Given the description of an element on the screen output the (x, y) to click on. 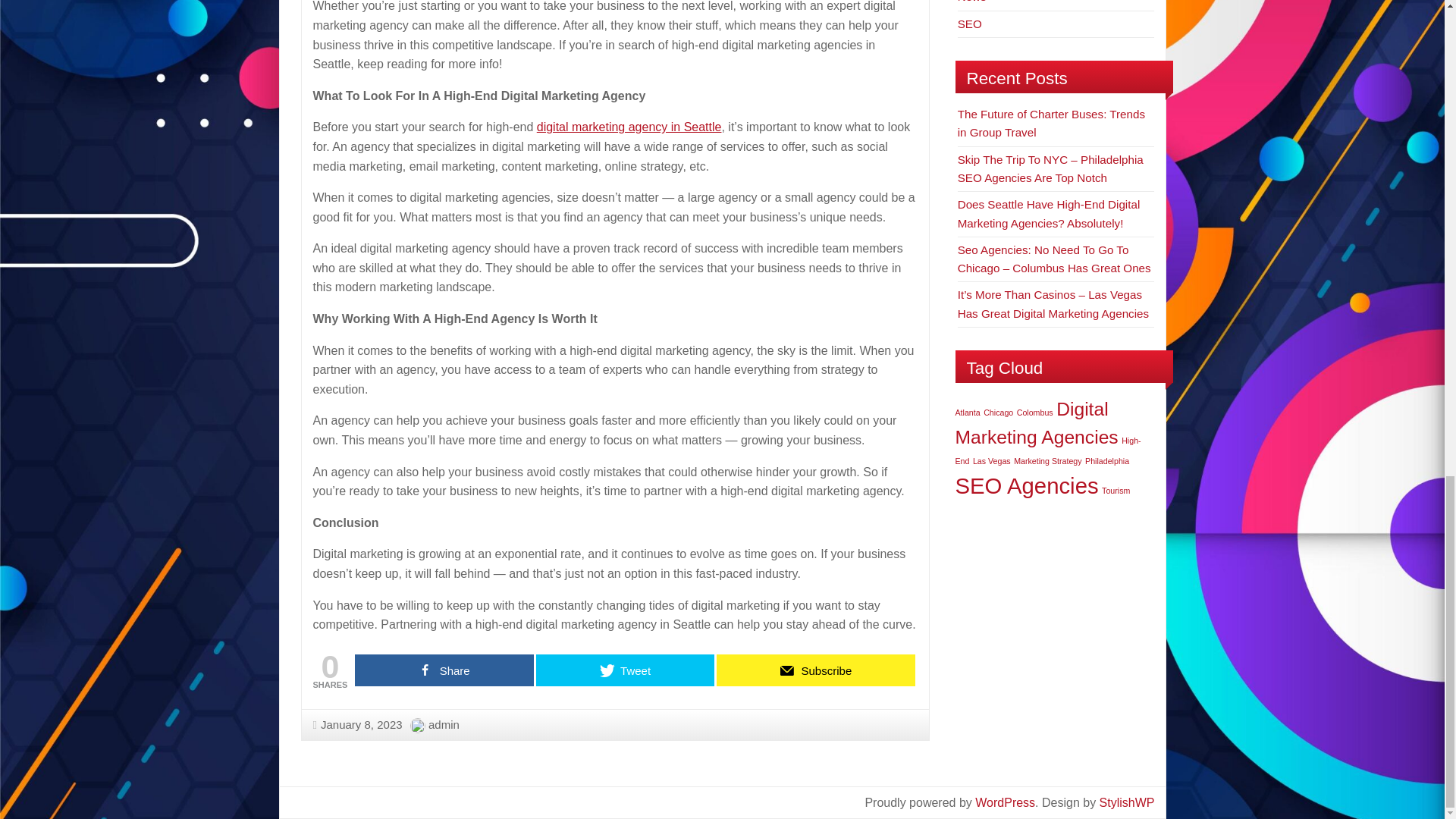
News (972, 1)
Tweet (624, 670)
digital marketing agency in Seattle (629, 126)
Atlanta (967, 411)
Chicago (998, 411)
BlogoLife (1126, 802)
Subscribe (815, 670)
SEO (969, 23)
admin (444, 724)
January 8, 2023 (357, 724)
The Future of Charter Buses: Trends in Group Travel (1051, 122)
Share (443, 670)
